Given the description of an element on the screen output the (x, y) to click on. 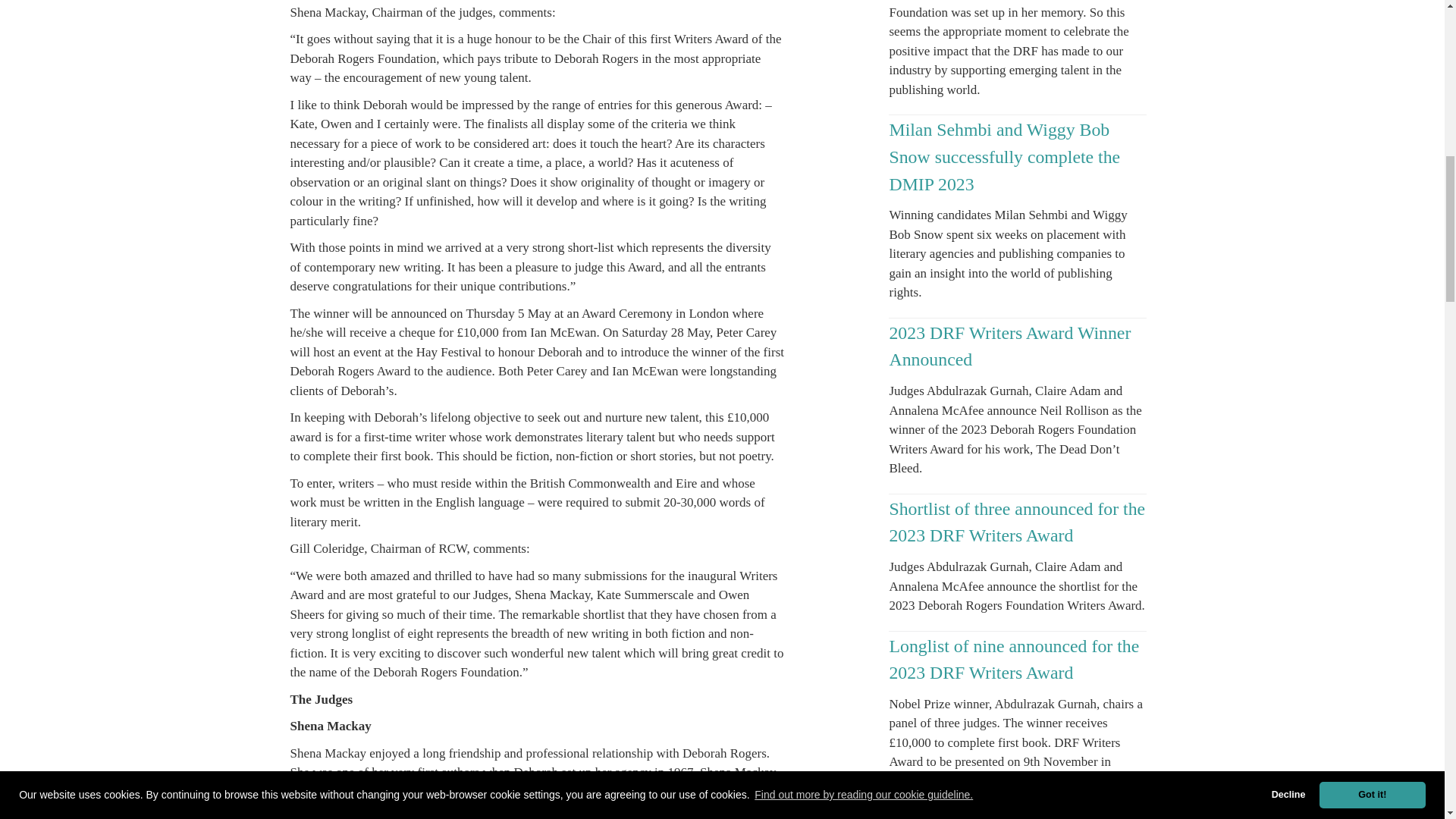
2023 DRF Writers Award Winner Announced (1009, 346)
Longlist of nine announced for the 2023 DRF Writers Award (1013, 659)
Shortlist of three announced for the 2023 DRF Writers Award (1016, 522)
The Writers Award longlist is now confirmed. (1011, 815)
